Given the description of an element on the screen output the (x, y) to click on. 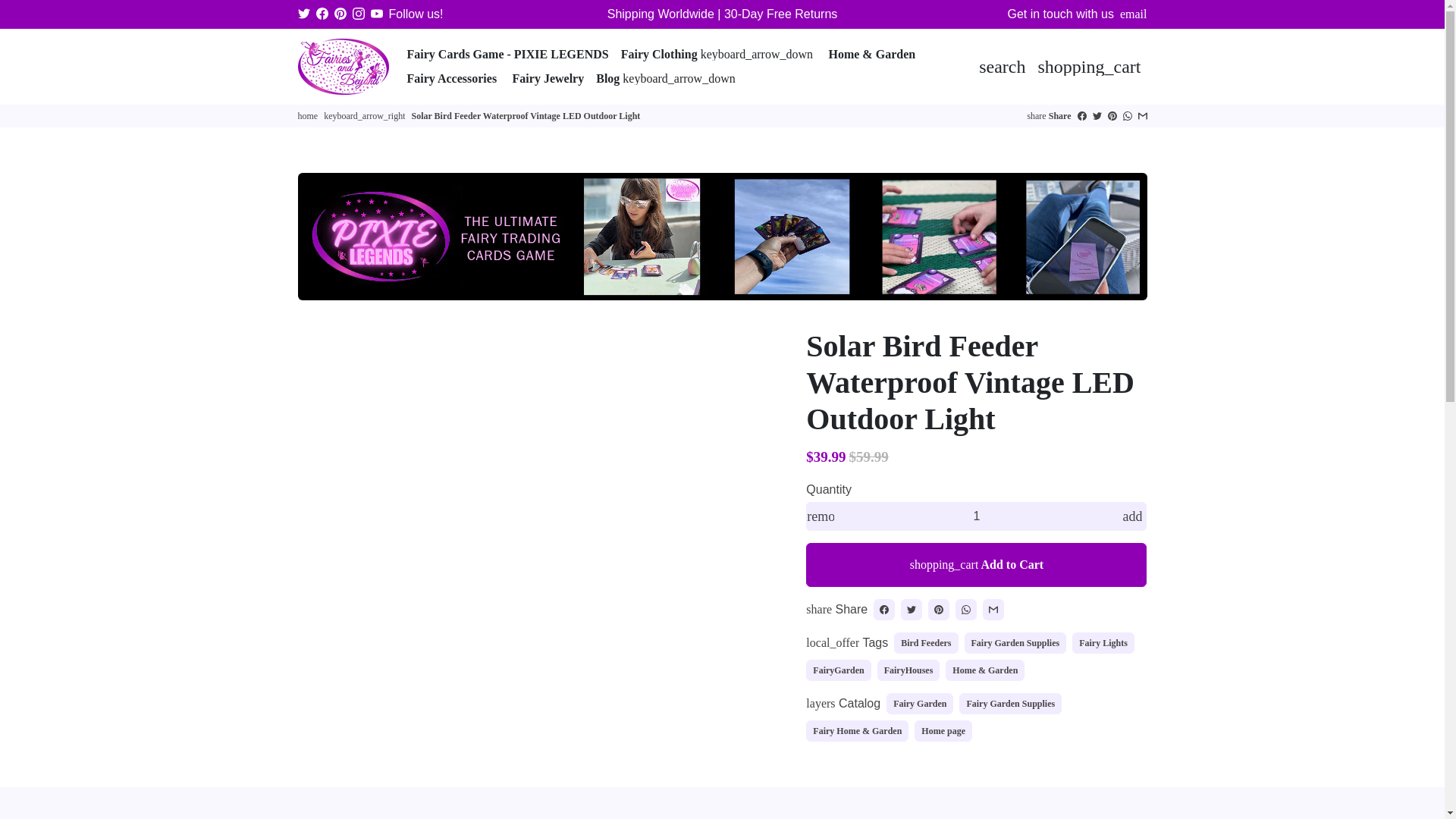
Fairies and Beyond on Instagram (358, 13)
Fairies and Beyond on Facebook (321, 13)
Fairies and Beyond on Pinterest (339, 13)
Fairies and Beyond on Youtube (375, 13)
Fairies and Beyond on Twitter (302, 13)
1 (976, 516)
